Given the description of an element on the screen output the (x, y) to click on. 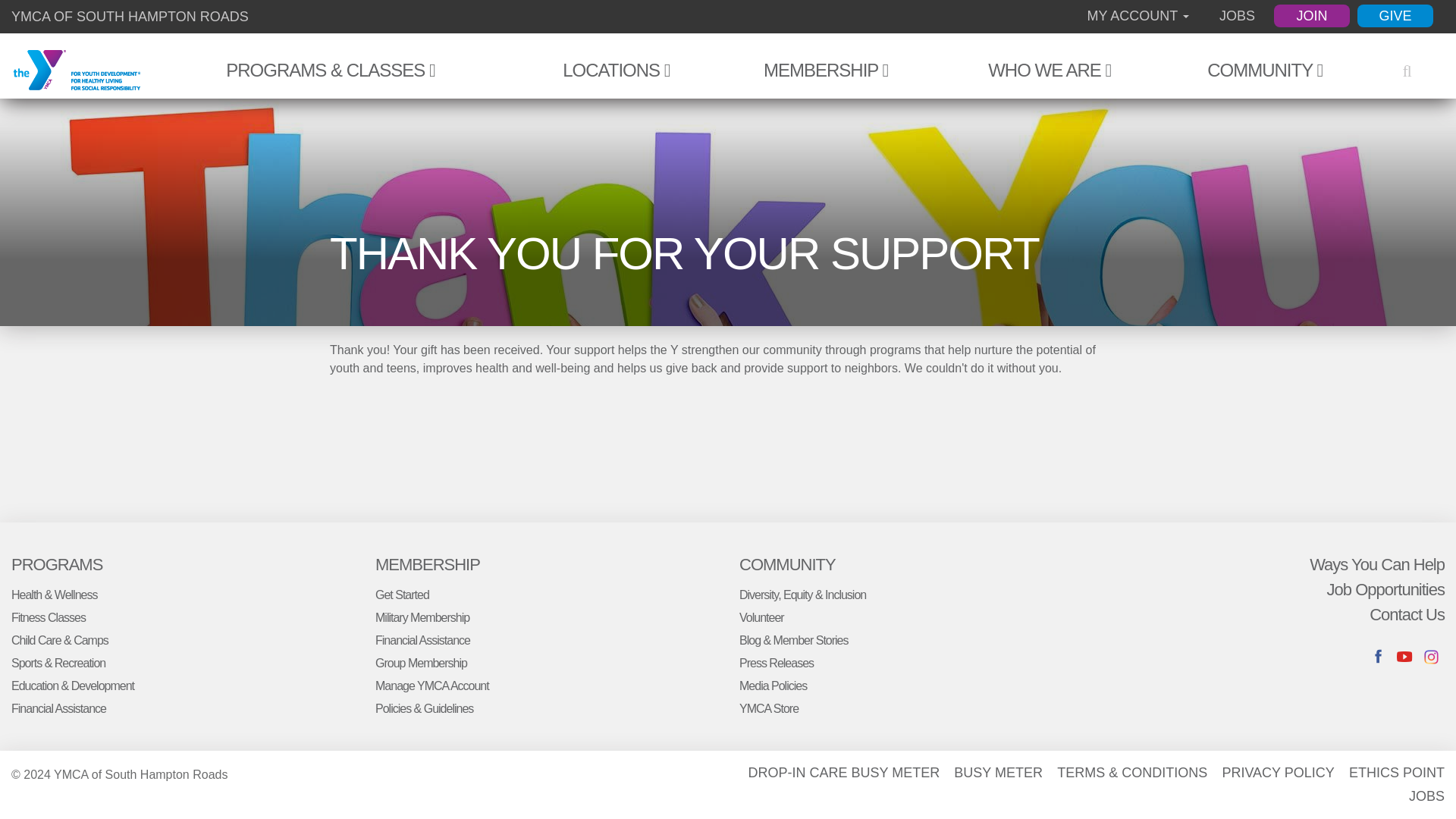
Home (76, 70)
Facebook (1377, 656)
Instagram (1431, 656)
Youtube (1403, 656)
